Given the description of an element on the screen output the (x, y) to click on. 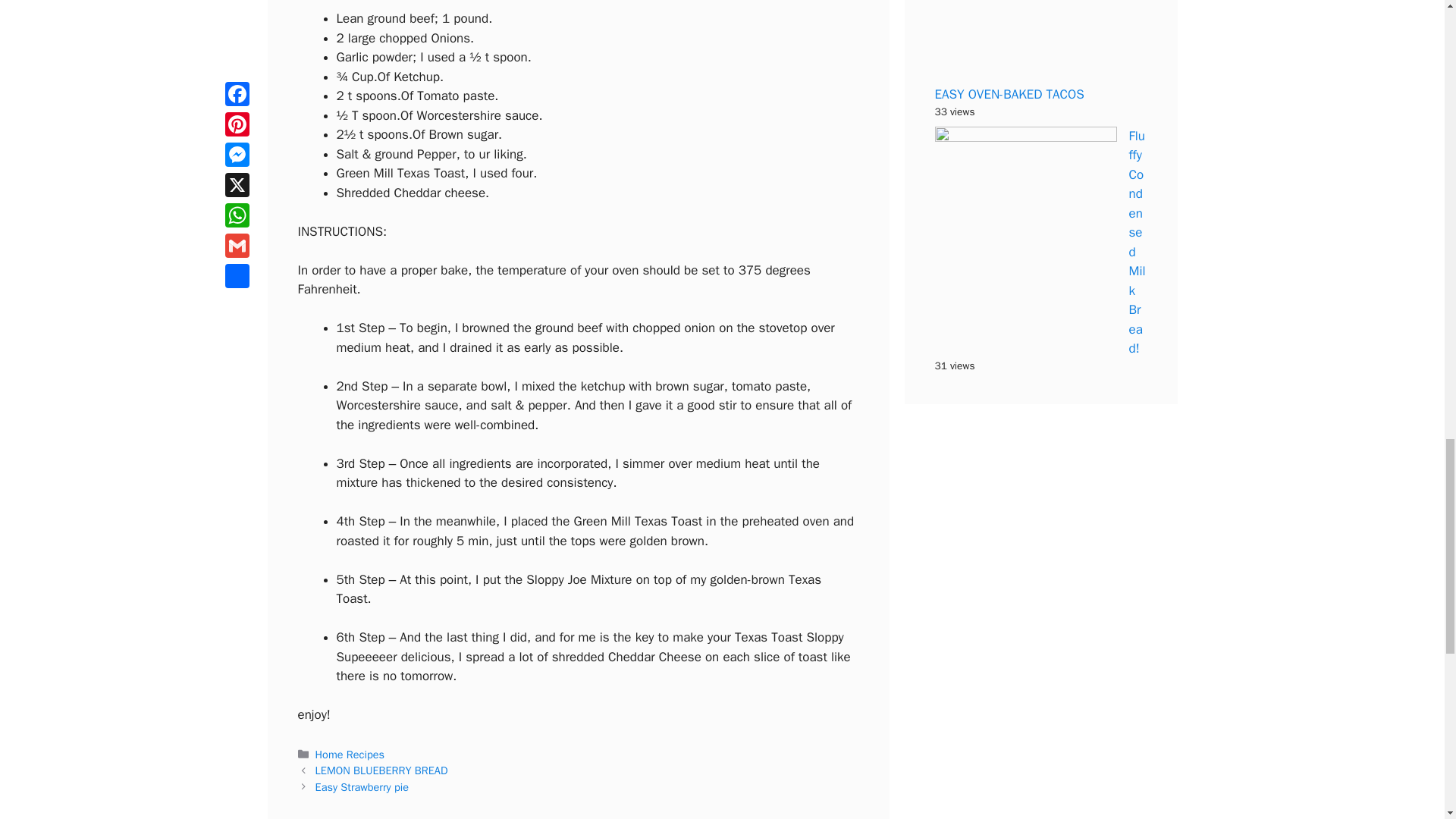
Easy Strawberry pie (362, 786)
Home Recipes (349, 754)
LEMON BLUEBERRY BREAD (381, 770)
